Given the description of an element on the screen output the (x, y) to click on. 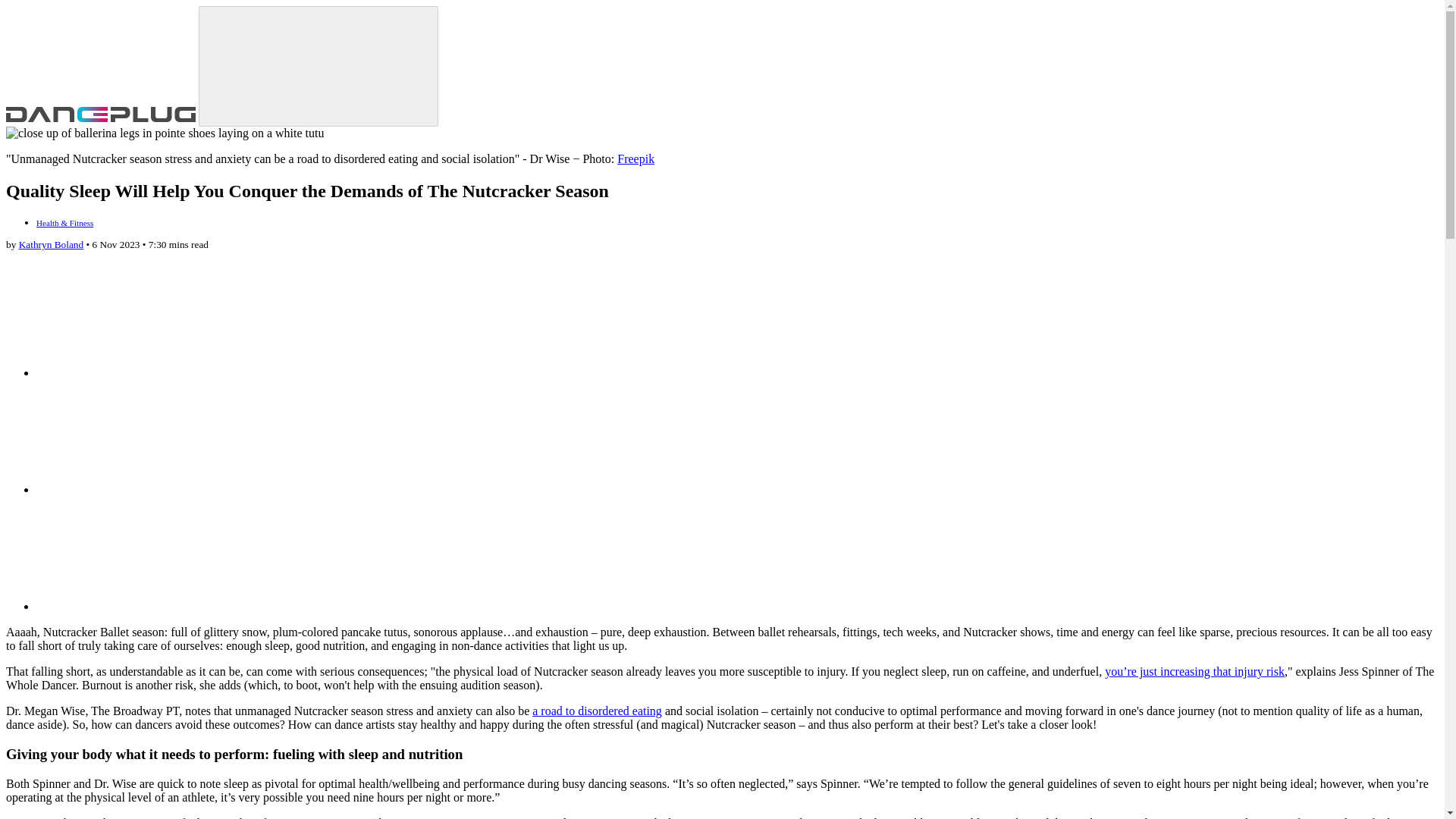
Share on Facebook (149, 553)
Kathryn Boland (51, 244)
Share on Twitter (149, 436)
Share on email (149, 319)
Freepik (635, 158)
